Given the description of an element on the screen output the (x, y) to click on. 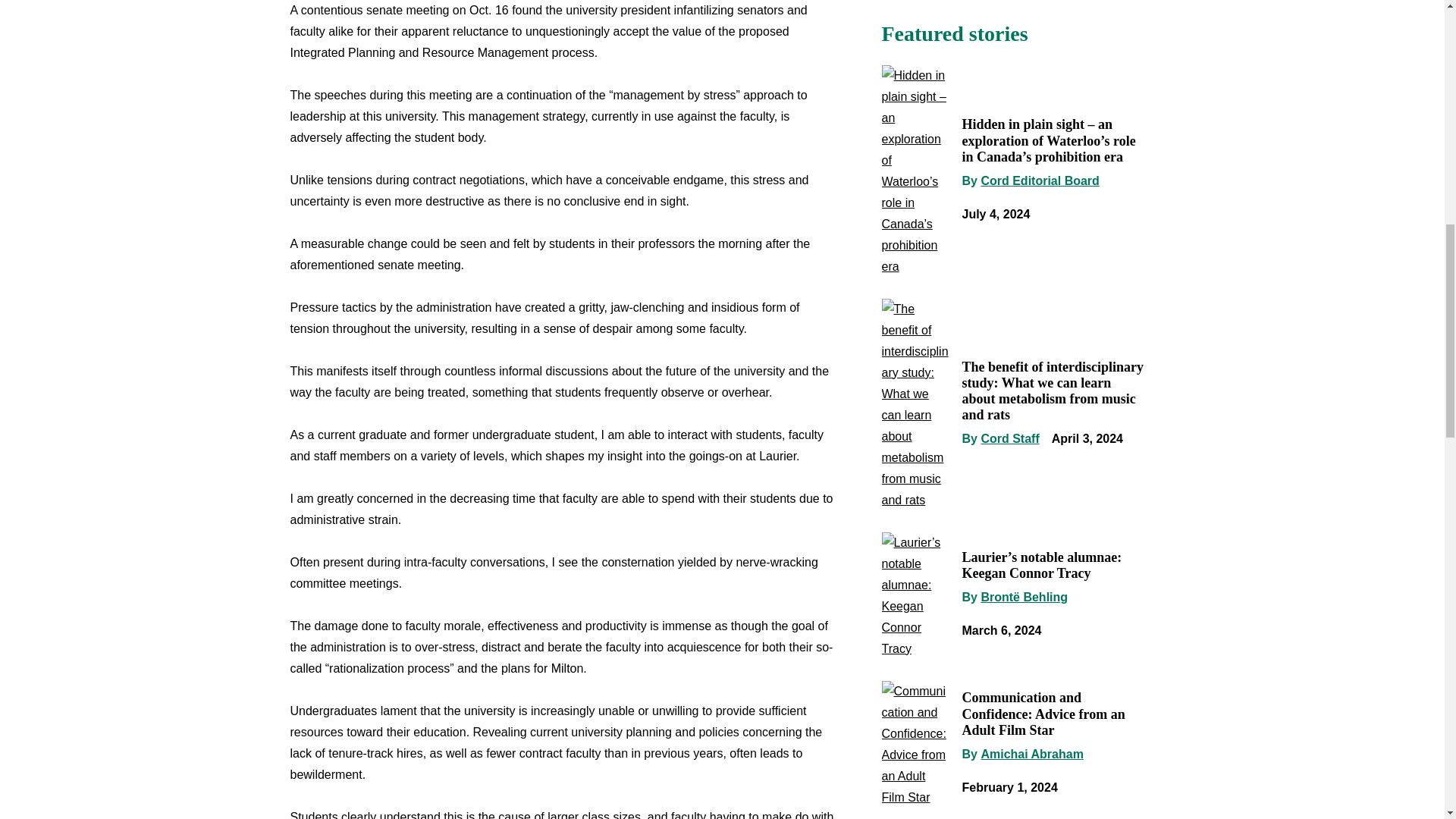
Posts by Amichai Abraham (1031, 753)
Posts by Cord Staff (1009, 438)
Posts by Cord Editorial Board (1039, 180)
